Given the description of an element on the screen output the (x, y) to click on. 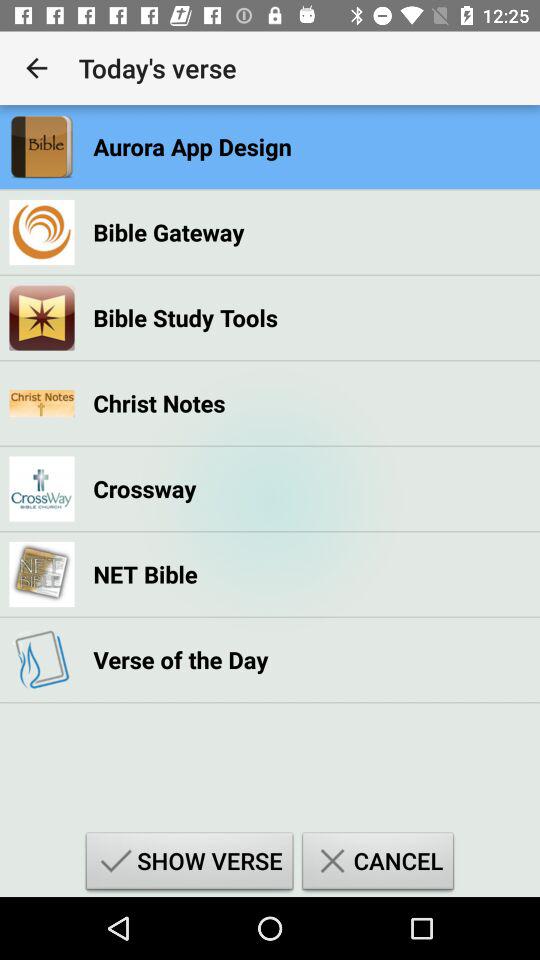
turn off aurora app design (192, 146)
